Given the description of an element on the screen output the (x, y) to click on. 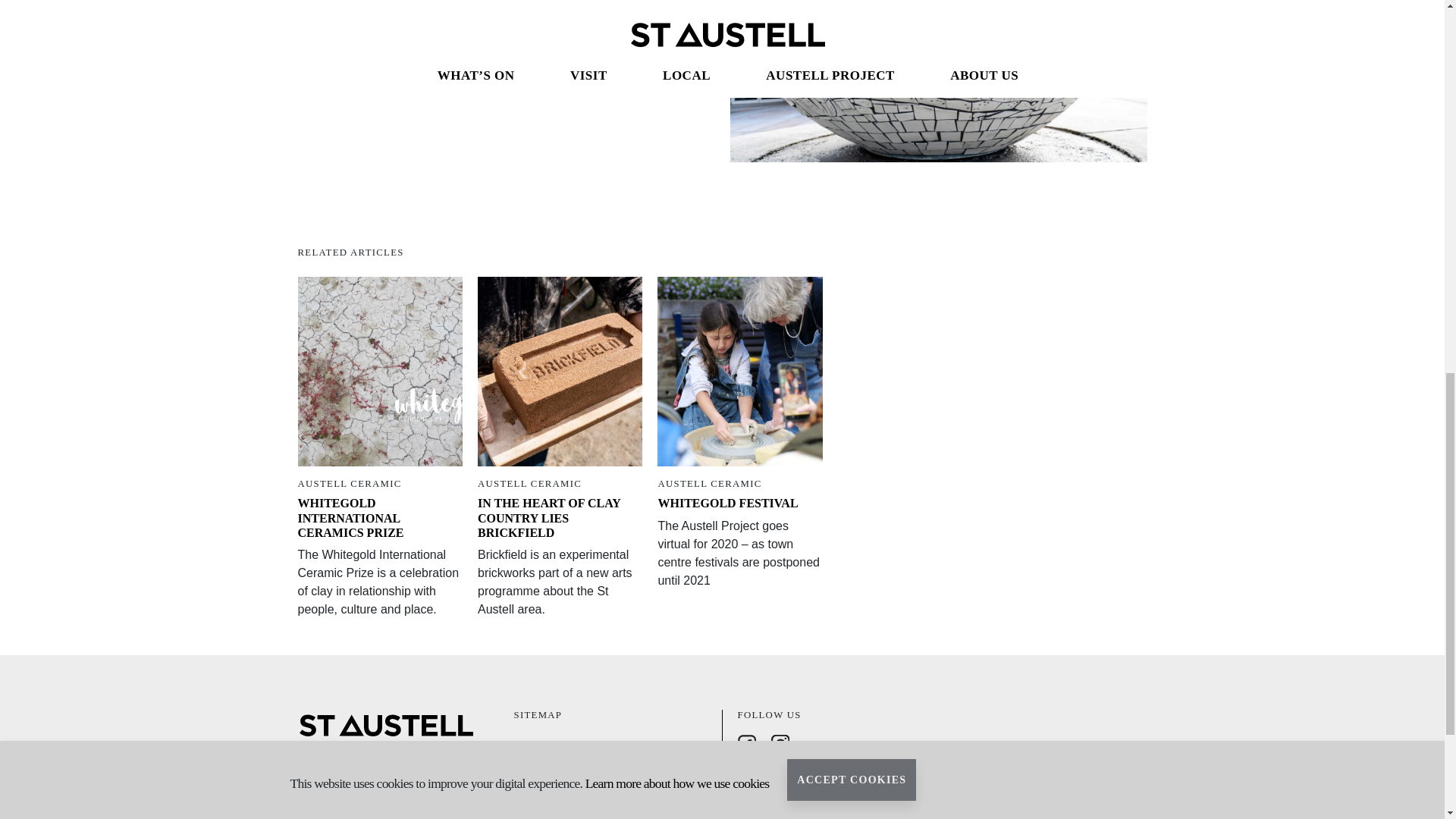
Discover St Austell (550, 746)
WHITEGOLD INTERNATIONAL CERAMICS PRIZE (350, 517)
Visit (522, 791)
austell-project-marion-brandis-33 (938, 81)
Follow on Facebook (748, 743)
Follow on Instagram (782, 743)
IN THE HEART OF CLAY COUNTRY LIES BRICKFIELD (548, 517)
WHITEGOLD FESTIVAL (727, 502)
Local (524, 813)
